Given the description of an element on the screen output the (x, y) to click on. 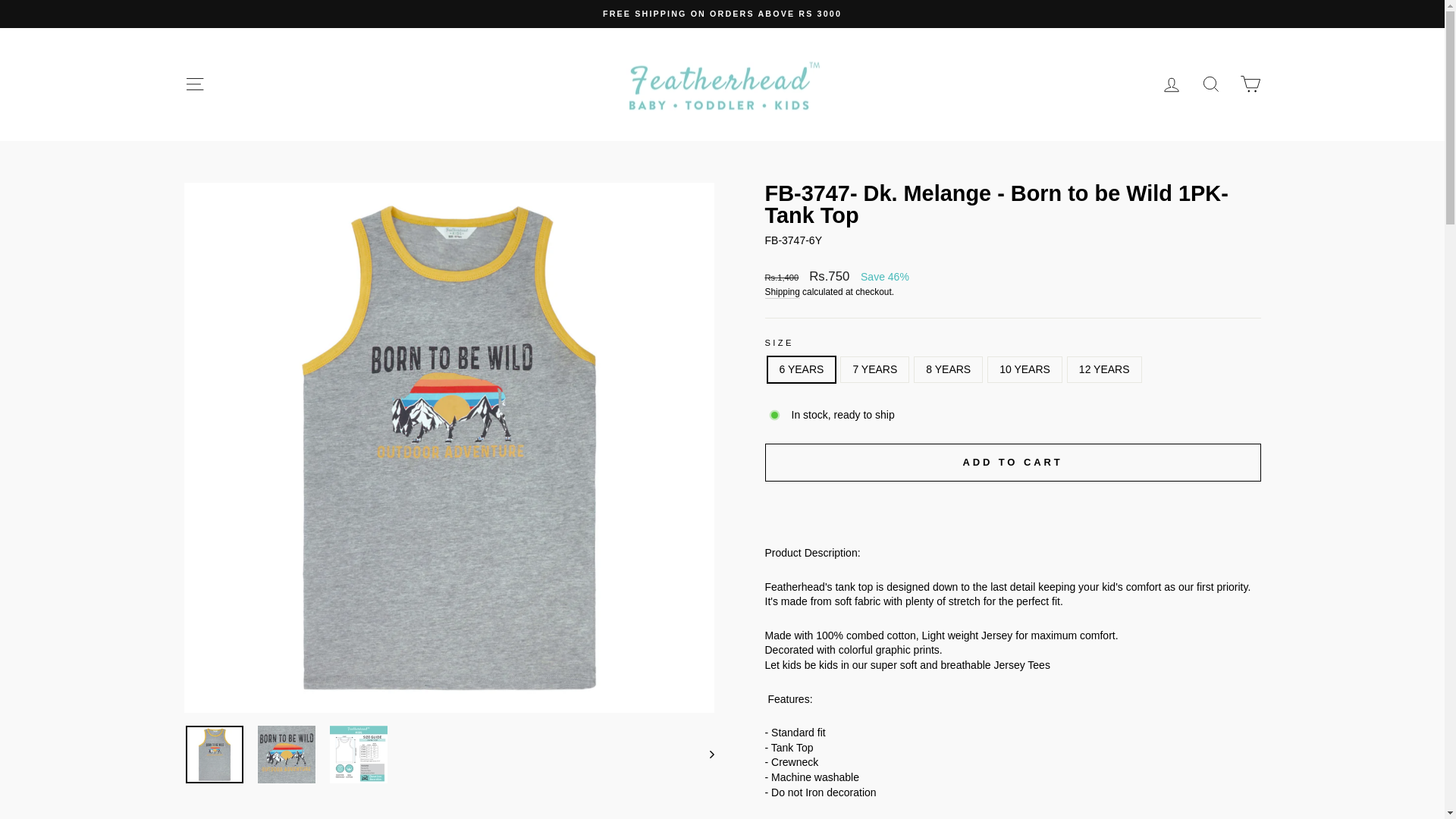
ACCOUNT (1170, 84)
ICON-SEARCH (1210, 84)
ICON-HAMBURGER (194, 84)
